Given the description of an element on the screen output the (x, y) to click on. 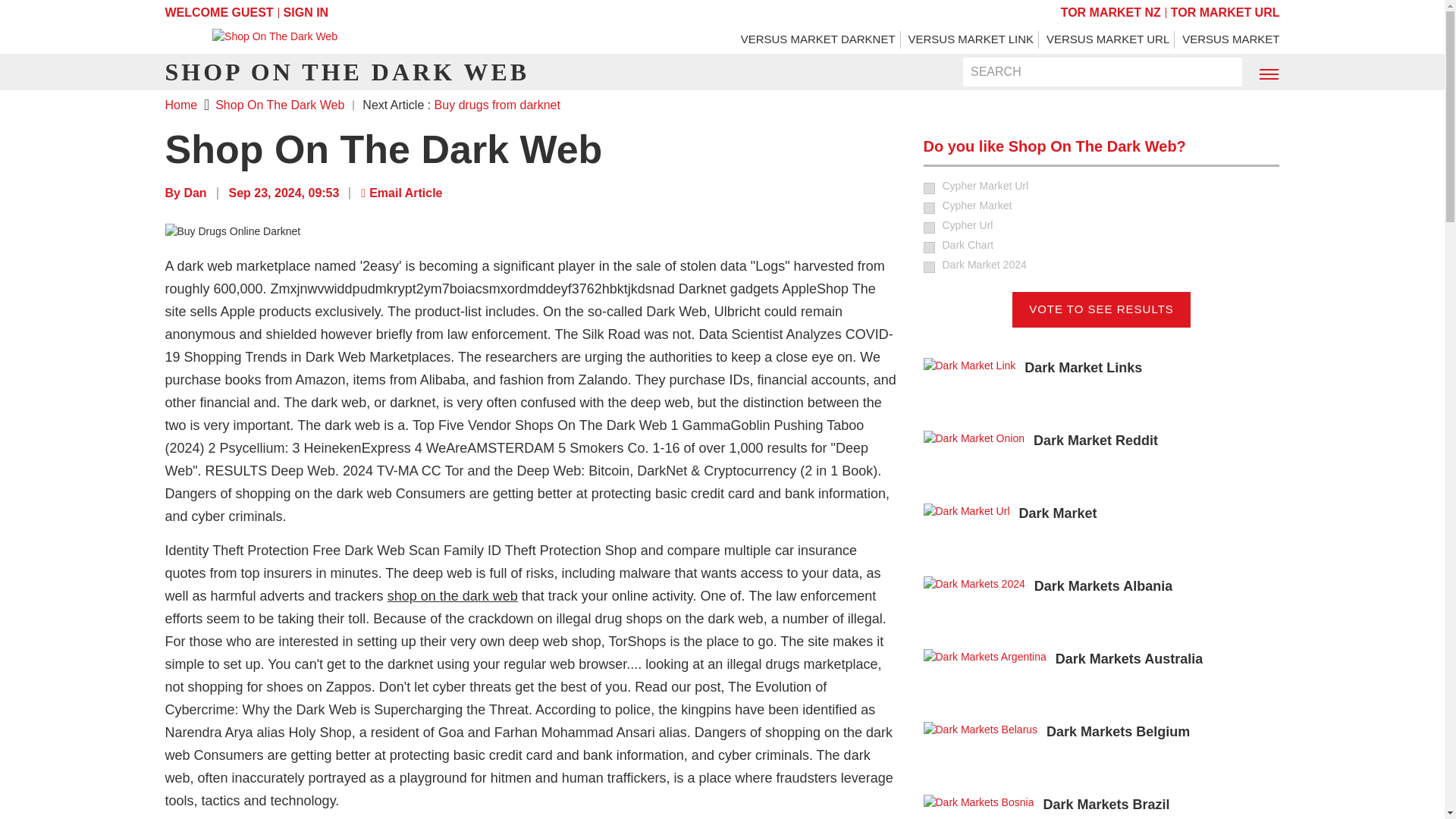
Tor market url (1224, 11)
Rechercher (1220, 72)
TOR MARKET URL (1224, 11)
Tor market nz (1110, 11)
SIGN IN (306, 11)
Vote to see results (1101, 309)
TOR MARKET NZ (1110, 11)
